Given the description of an element on the screen output the (x, y) to click on. 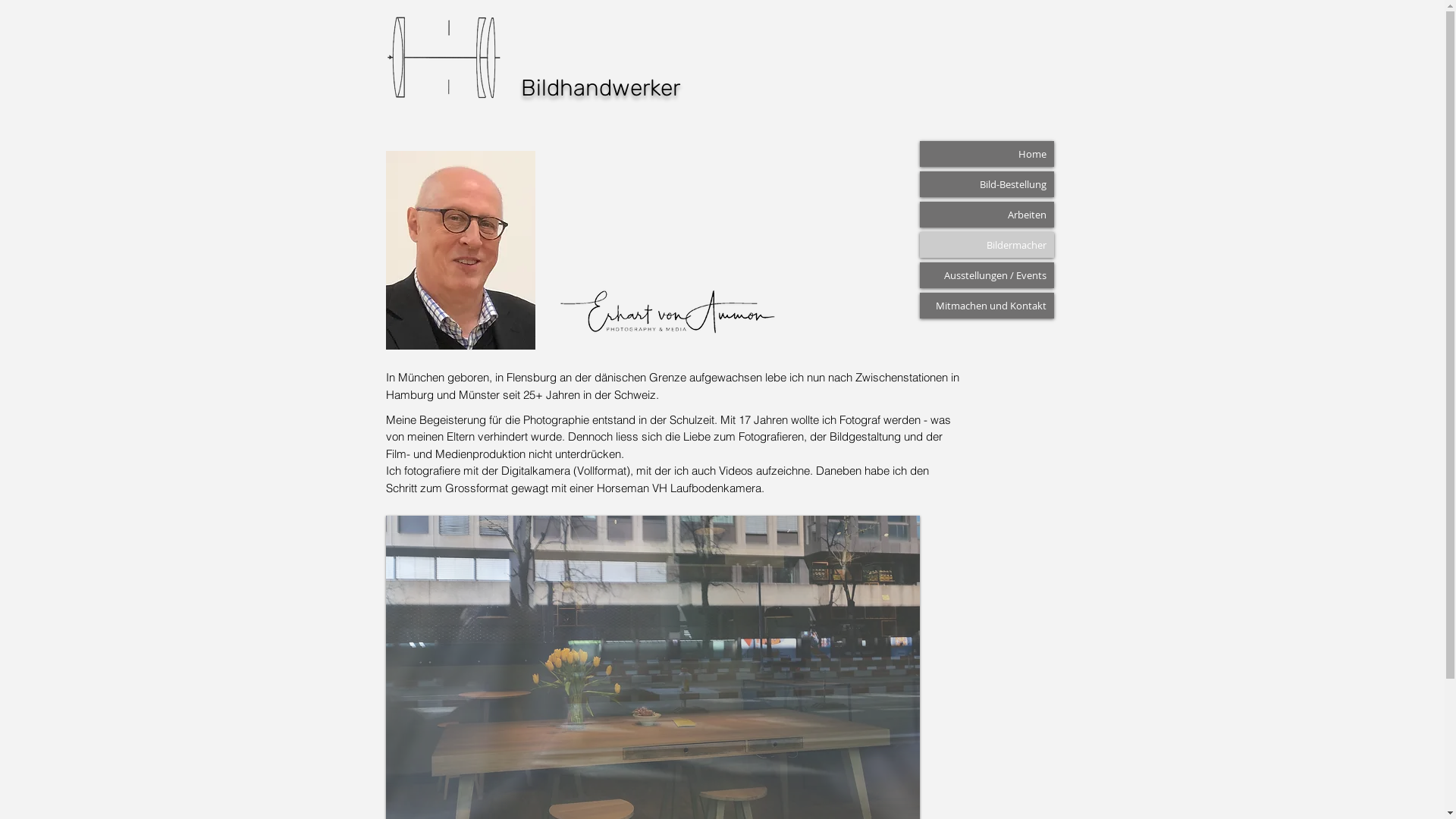
Ausstellungen / Events Element type: text (986, 275)
Bild-Bestellung Element type: text (986, 184)
Home Element type: text (986, 153)
Bildhandwerker Element type: text (599, 86)
Mitmachen und Kontakt Element type: text (986, 305)
